Given the description of an element on the screen output the (x, y) to click on. 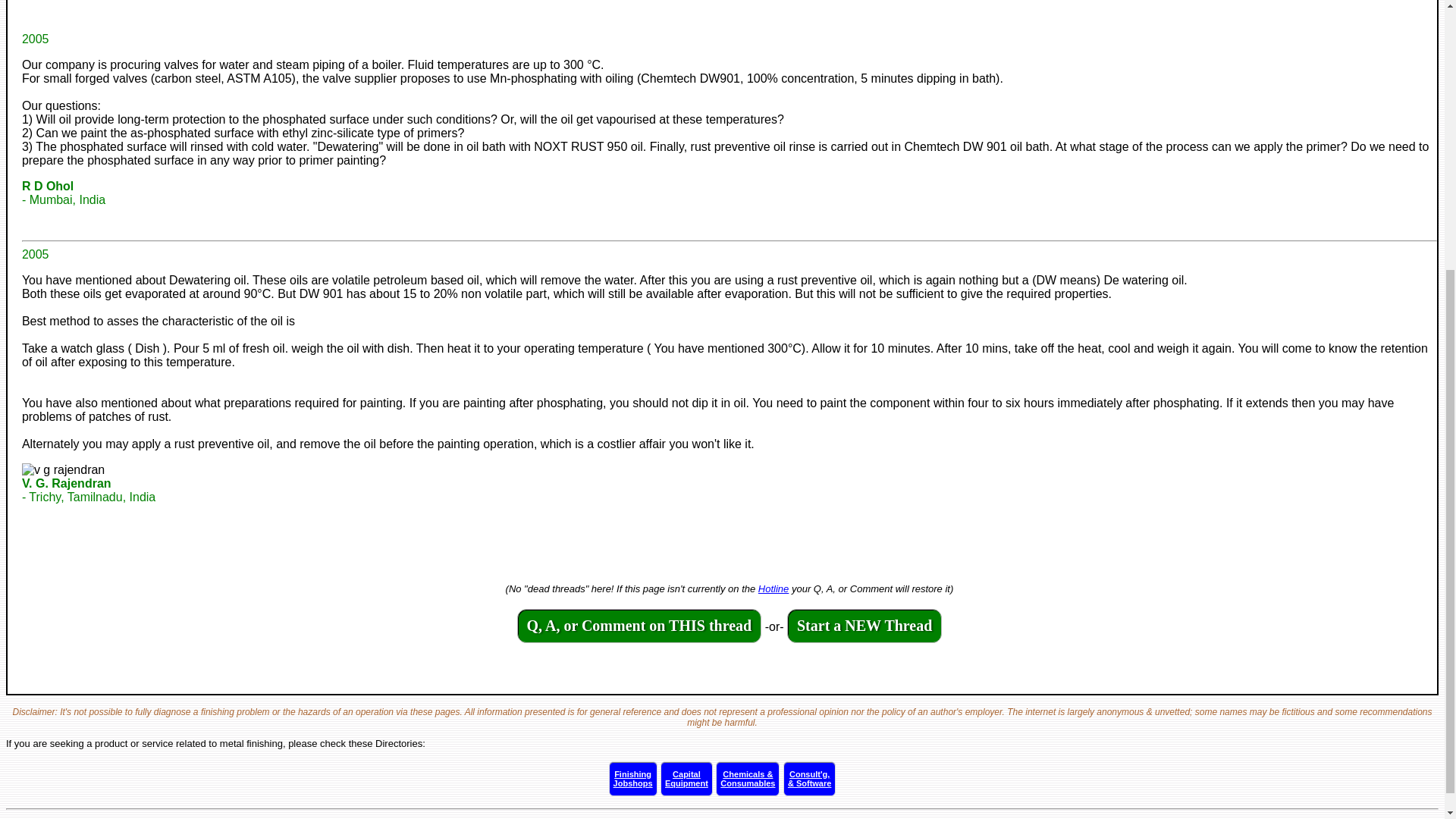
Start a NEW Thread (687, 778)
Q, A, or Comment on THIS thread (864, 626)
Hotline (638, 626)
